Given the description of an element on the screen output the (x, y) to click on. 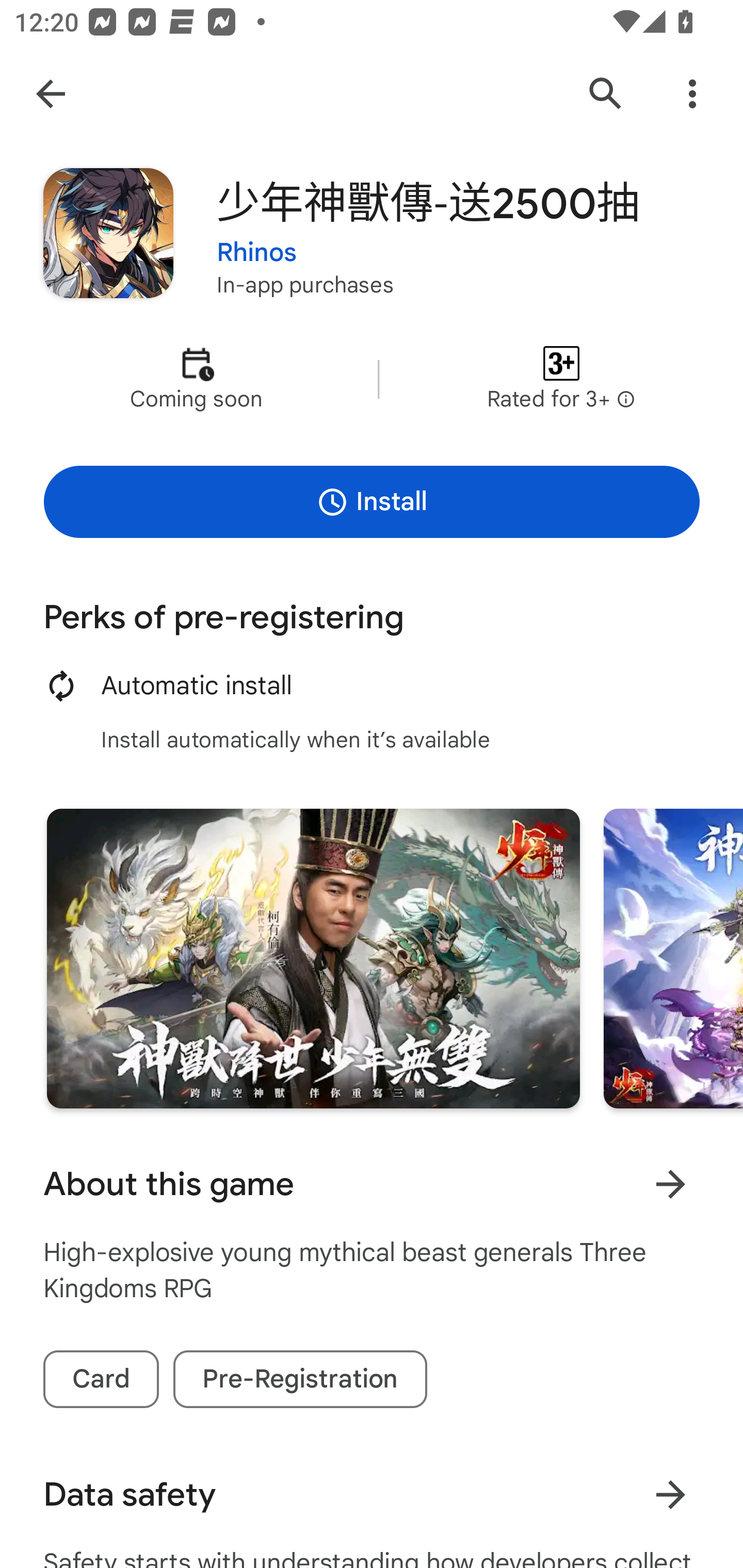
Navigate up (50, 93)
Search Google Play (605, 93)
More Options (692, 93)
Rhinos (256, 253)
Content rating Rated for 3+ (561, 379)
Install Pre-register to install (371, 501)
Screenshot "1" of "7" (313, 958)
About this game Learn more About this game (371, 1184)
Learn more About this game (670, 1184)
Card tag (101, 1378)
Pre-Registration tag (300, 1378)
Data safety Learn more about data safety (371, 1495)
Learn more about data safety (670, 1494)
